Given the description of an element on the screen output the (x, y) to click on. 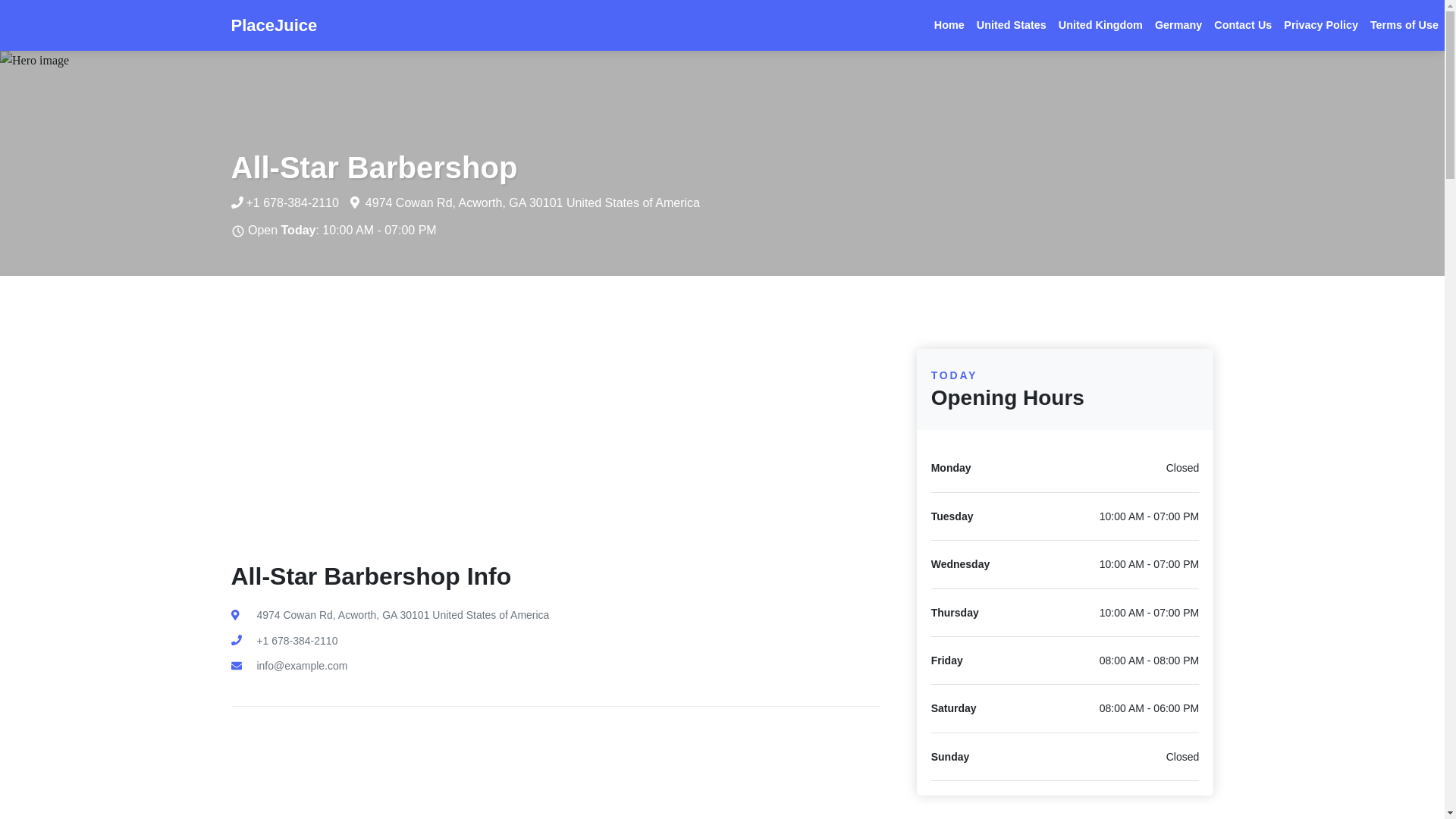
United Kingdom (1100, 25)
Privacy Policy (1321, 25)
Germany (1178, 25)
Contact Us (1243, 25)
Home (949, 25)
Advertisement (554, 762)
United States (1011, 25)
4974 Cowan Rd, Acworth, GA 30101 United States of America (389, 614)
